Given the description of an element on the screen output the (x, y) to click on. 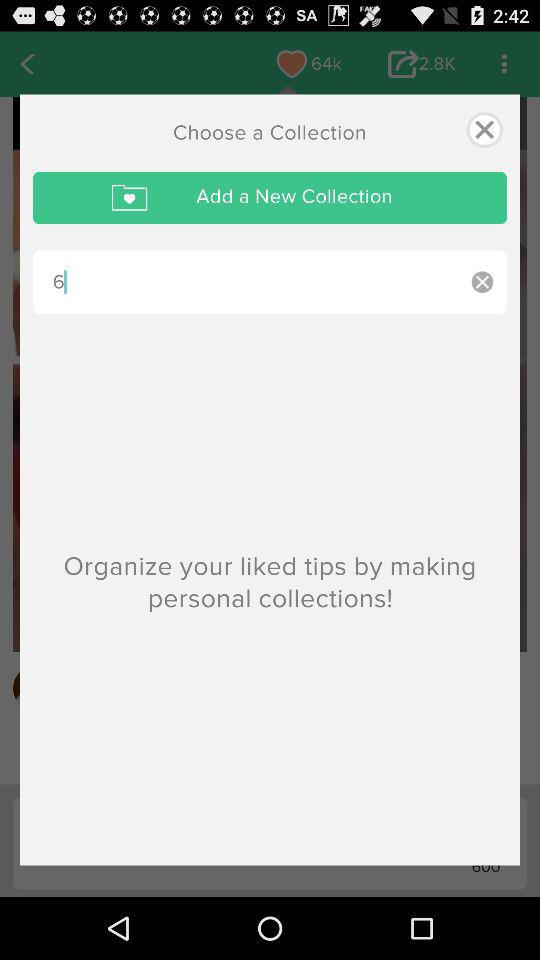
clear words (482, 281)
